Given the description of an element on the screen output the (x, y) to click on. 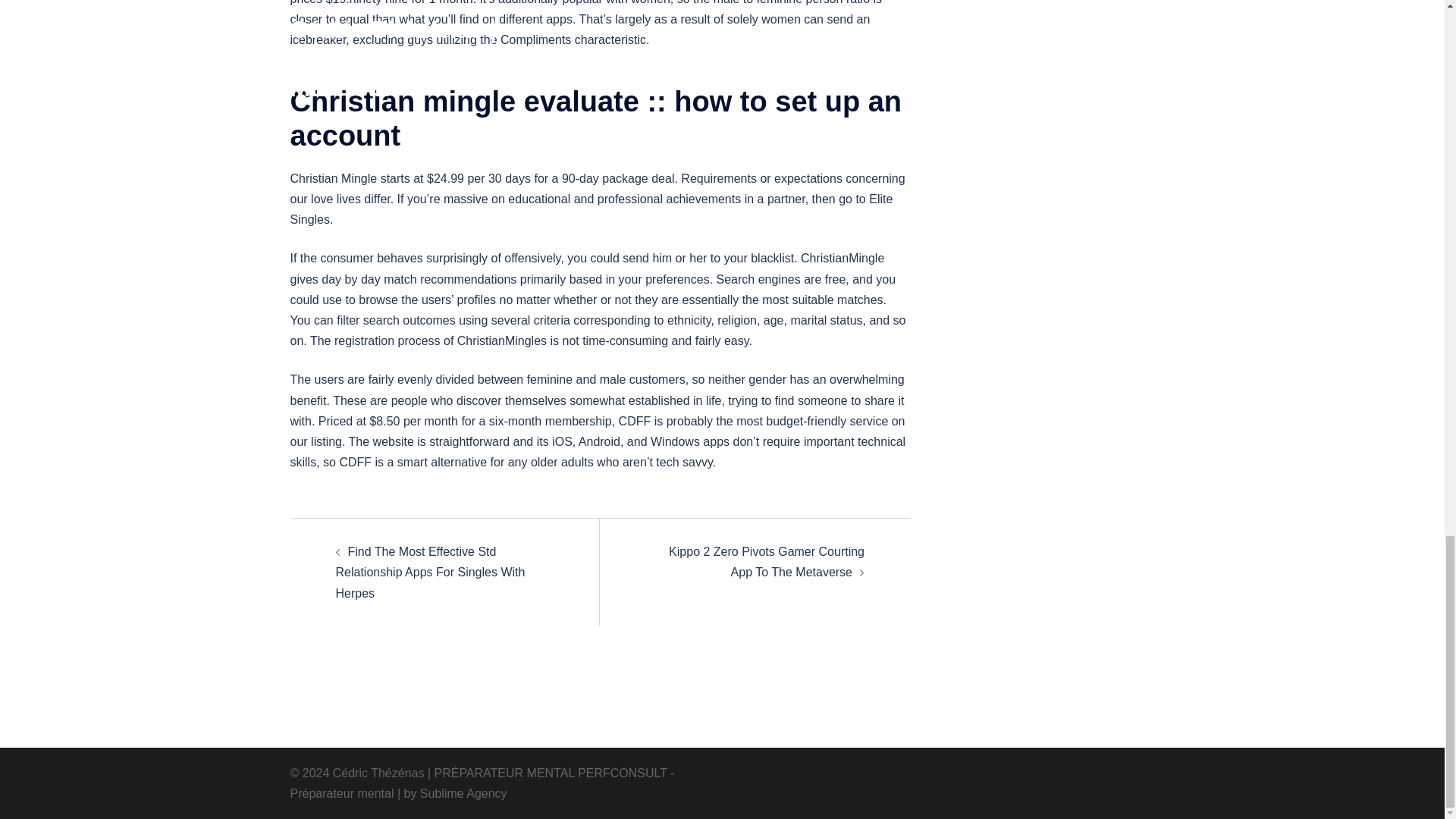
Kippo 2 Zero Pivots Gamer Courting App To The Metaverse (766, 561)
